Given the description of an element on the screen output the (x, y) to click on. 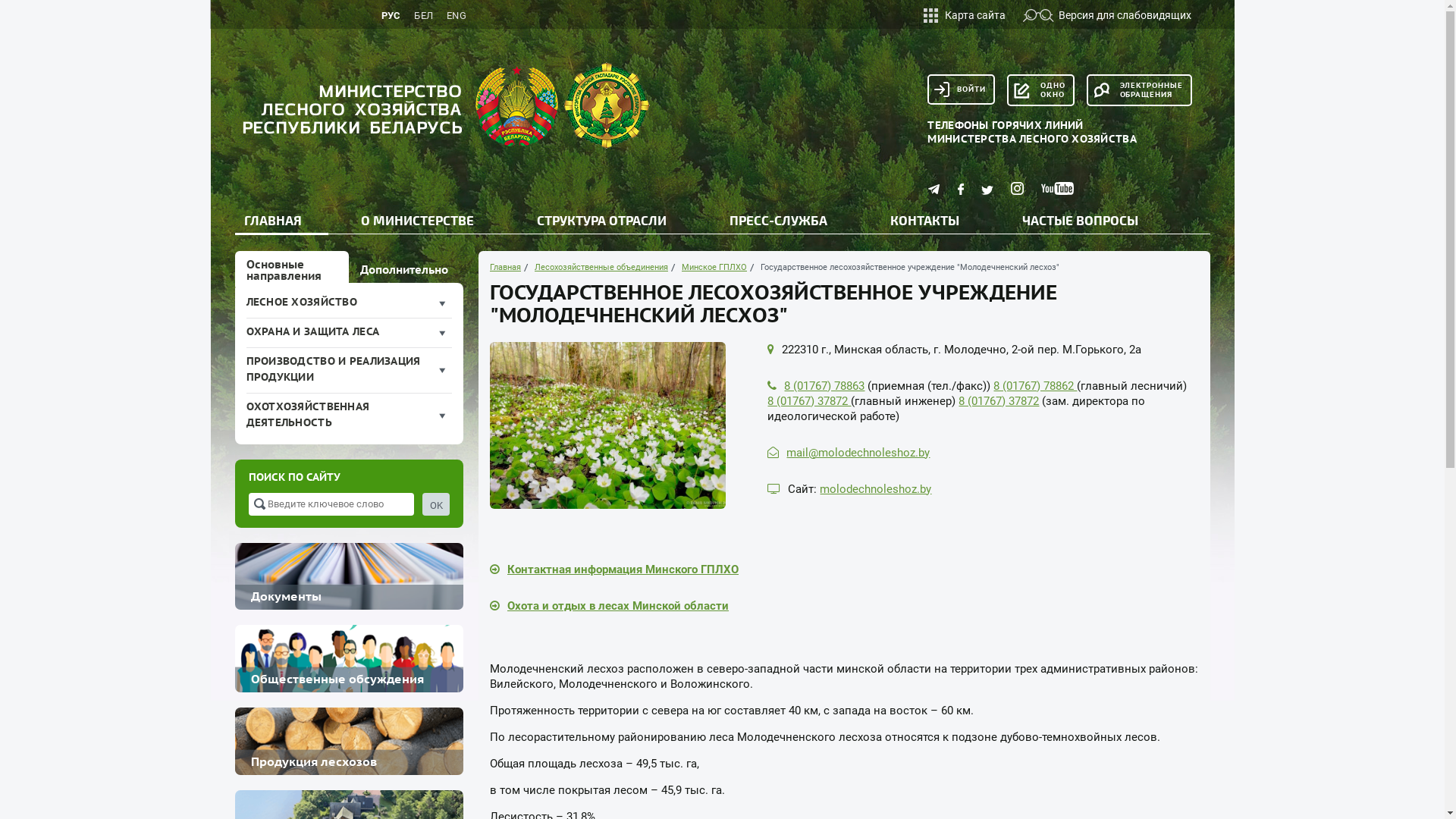
8 (01767) 37872 Element type: text (808, 400)
OK Element type: text (435, 503)
mail@molodechnoleshoz.by Element type: text (857, 452)
molodechnoleshoz.by Element type: text (875, 488)
ENG Element type: text (456, 16)
8 (01767) 78862 Element type: text (1034, 385)
8 (01767) 37872 Element type: text (998, 400)
8 (01767) 78863 Element type: text (824, 385)
